Given the description of an element on the screen output the (x, y) to click on. 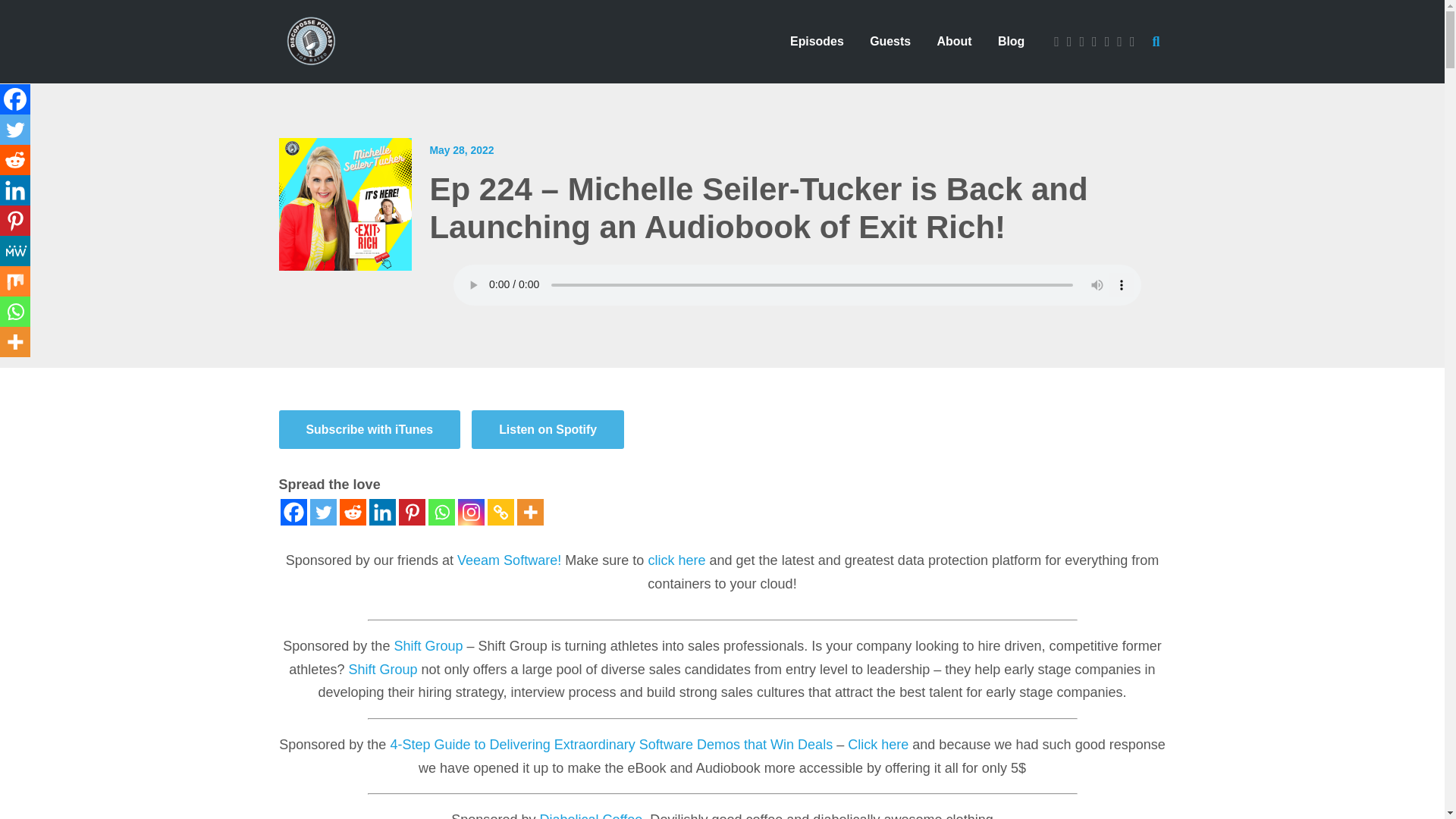
Facebook (15, 99)
Shift Group (381, 669)
Shift Group (428, 645)
Facebook (294, 511)
Veeam Software! (508, 560)
Subscribe with iTunes (370, 429)
Whatsapp (441, 511)
Pinterest (411, 511)
Listen on Spotify (547, 429)
Twitter (322, 511)
click here (675, 560)
Twitter (15, 129)
Pinterest (15, 220)
Copy Link (499, 511)
Reddit (15, 159)
